Given the description of an element on the screen output the (x, y) to click on. 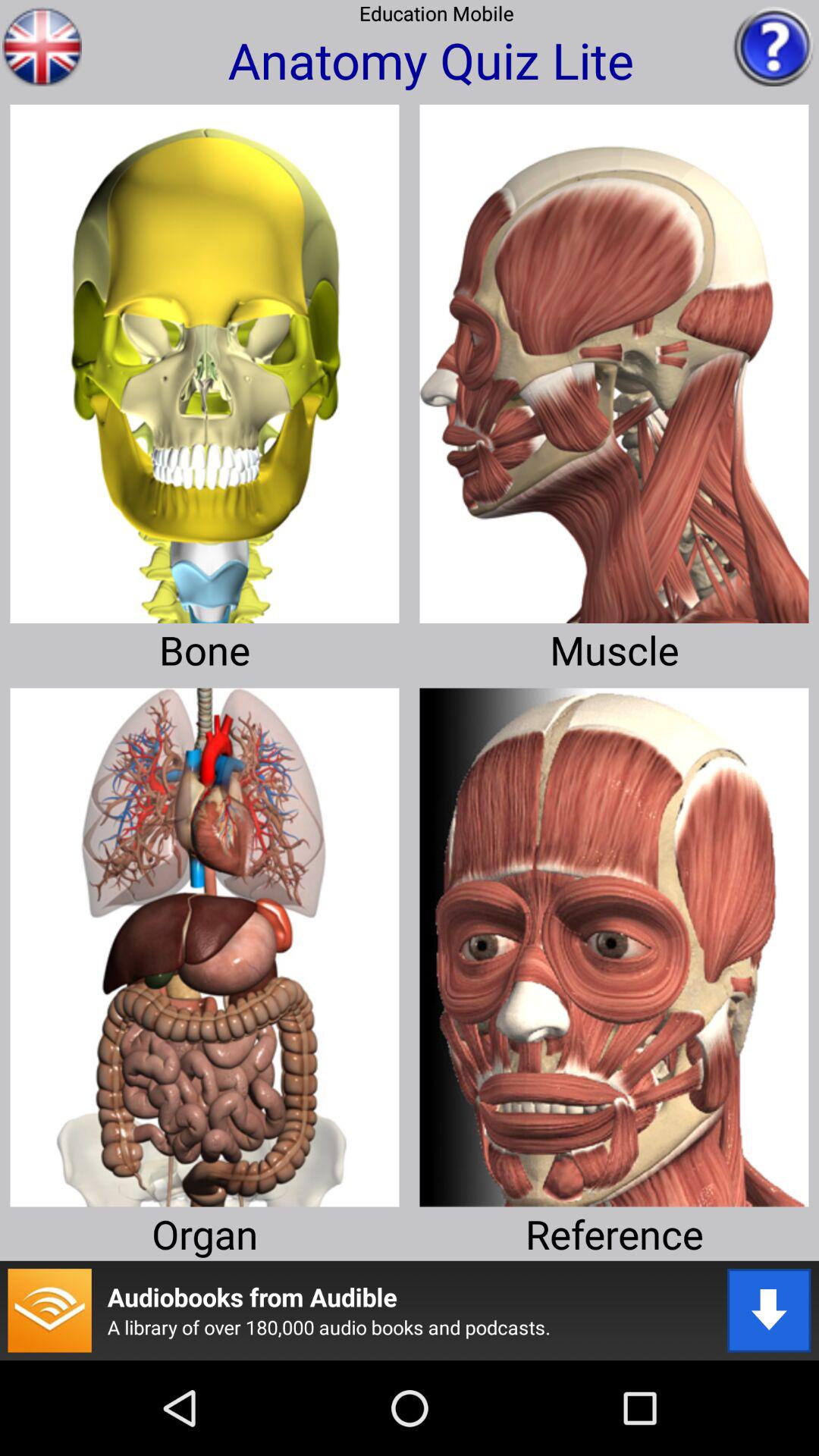
select this face (613, 941)
